Given the description of an element on the screen output the (x, y) to click on. 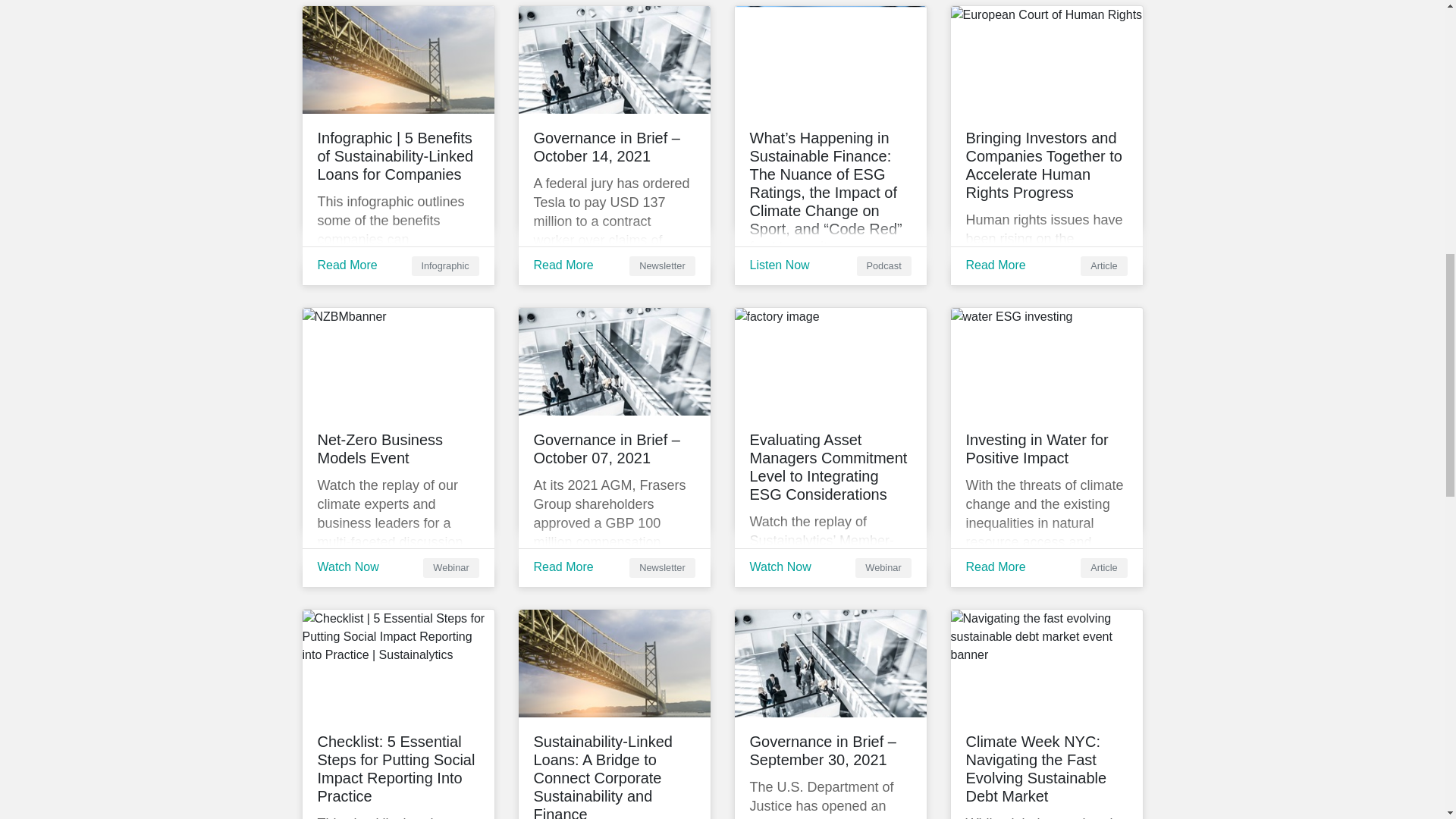
cii webinar (829, 361)
governance in brief (614, 361)
European Court of Human Rights (1046, 59)
navigating the fast evolving event (1046, 663)
NZBMbanner (397, 361)
governance in brief (614, 59)
water ESG investing (1046, 361)
Podcast header - blue (829, 59)
